Given the description of an element on the screen output the (x, y) to click on. 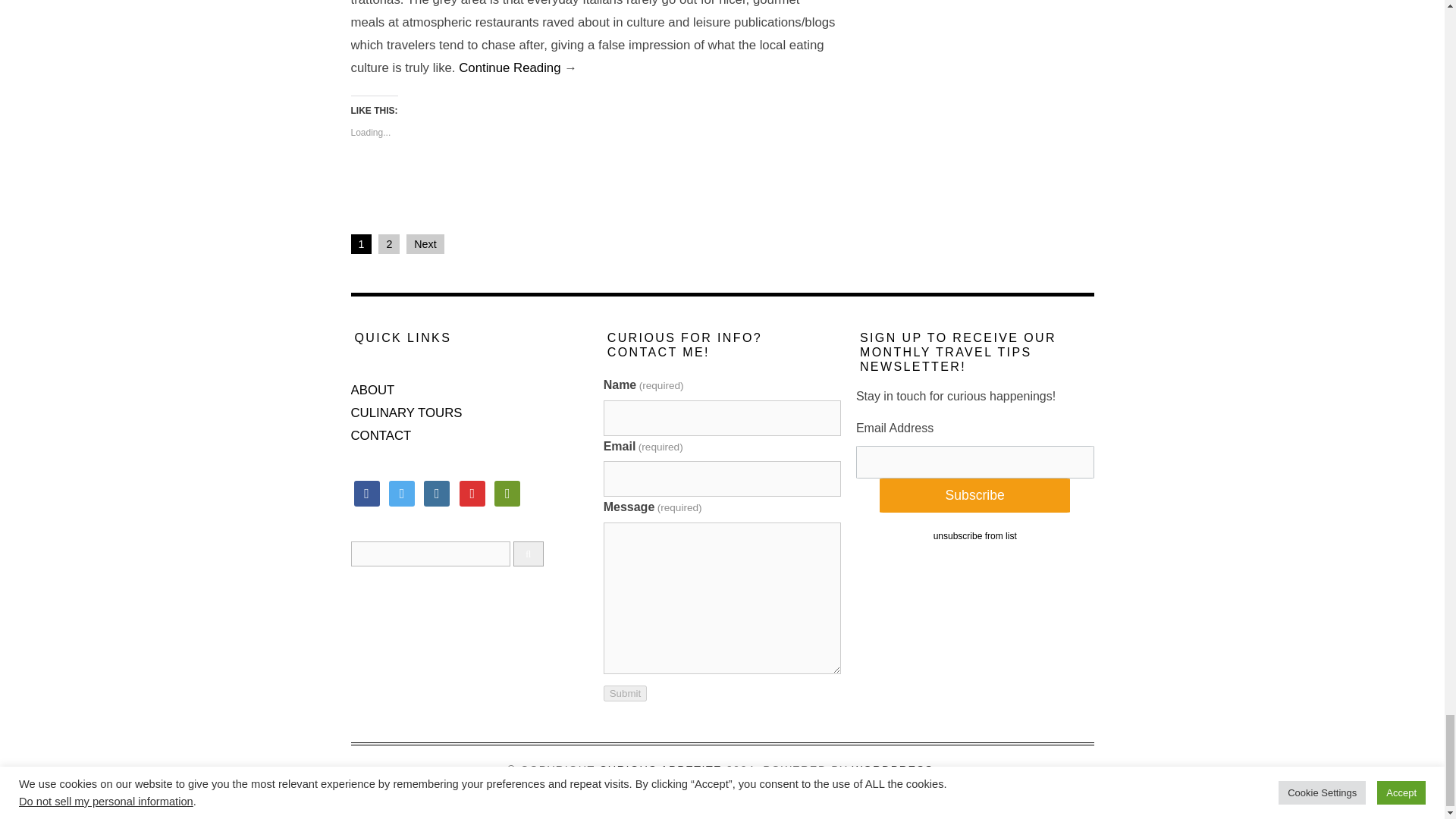
Friend me on Facebook (365, 492)
Instagram (436, 492)
Theme designed by BluChic (721, 784)
Follow Me (401, 492)
Search (429, 553)
Subscribe (974, 495)
